Given the description of an element on the screen output the (x, y) to click on. 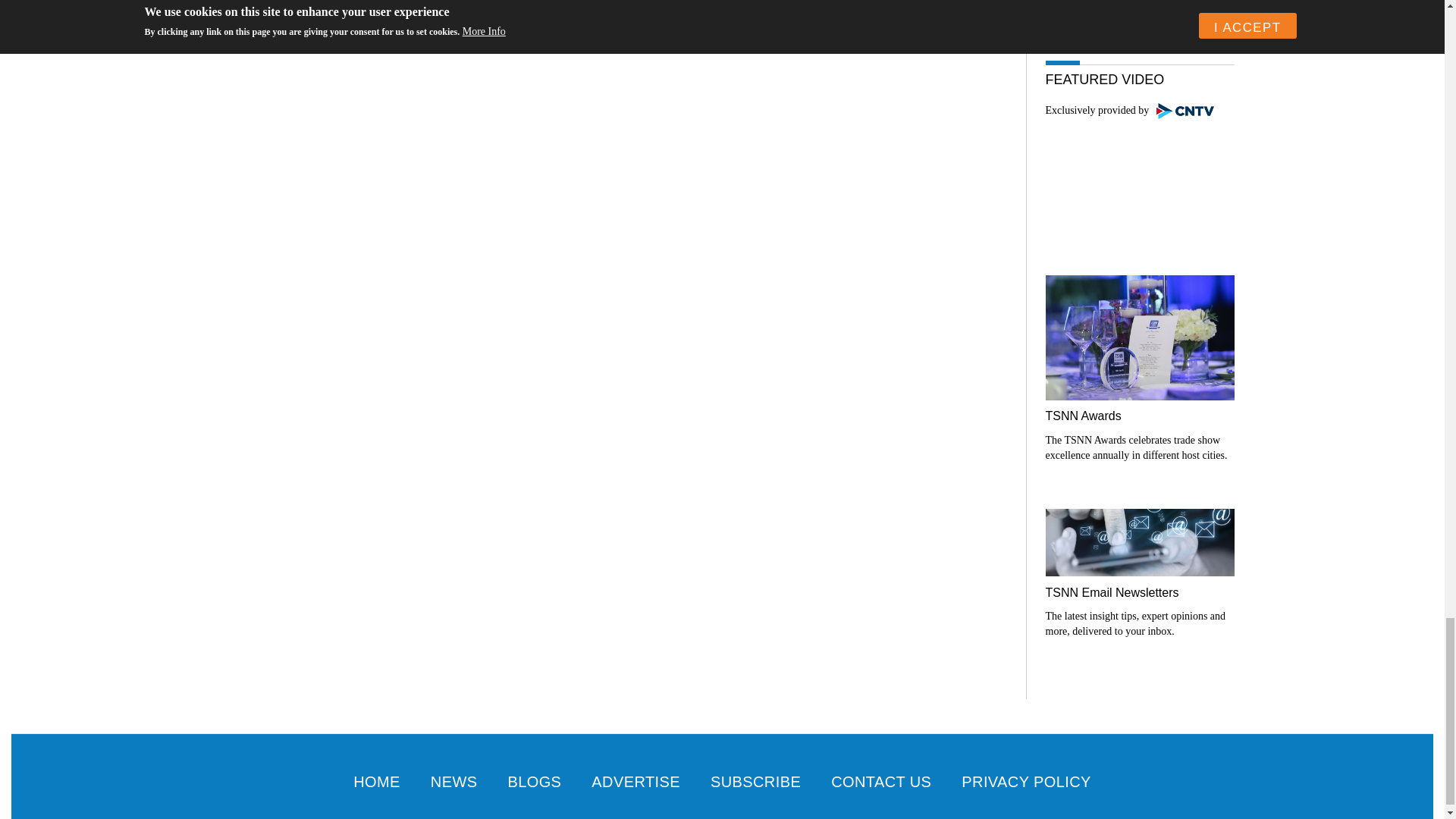
vimeo-player (1139, 183)
3rd party ad content (1139, 9)
